Given the description of an element on the screen output the (x, y) to click on. 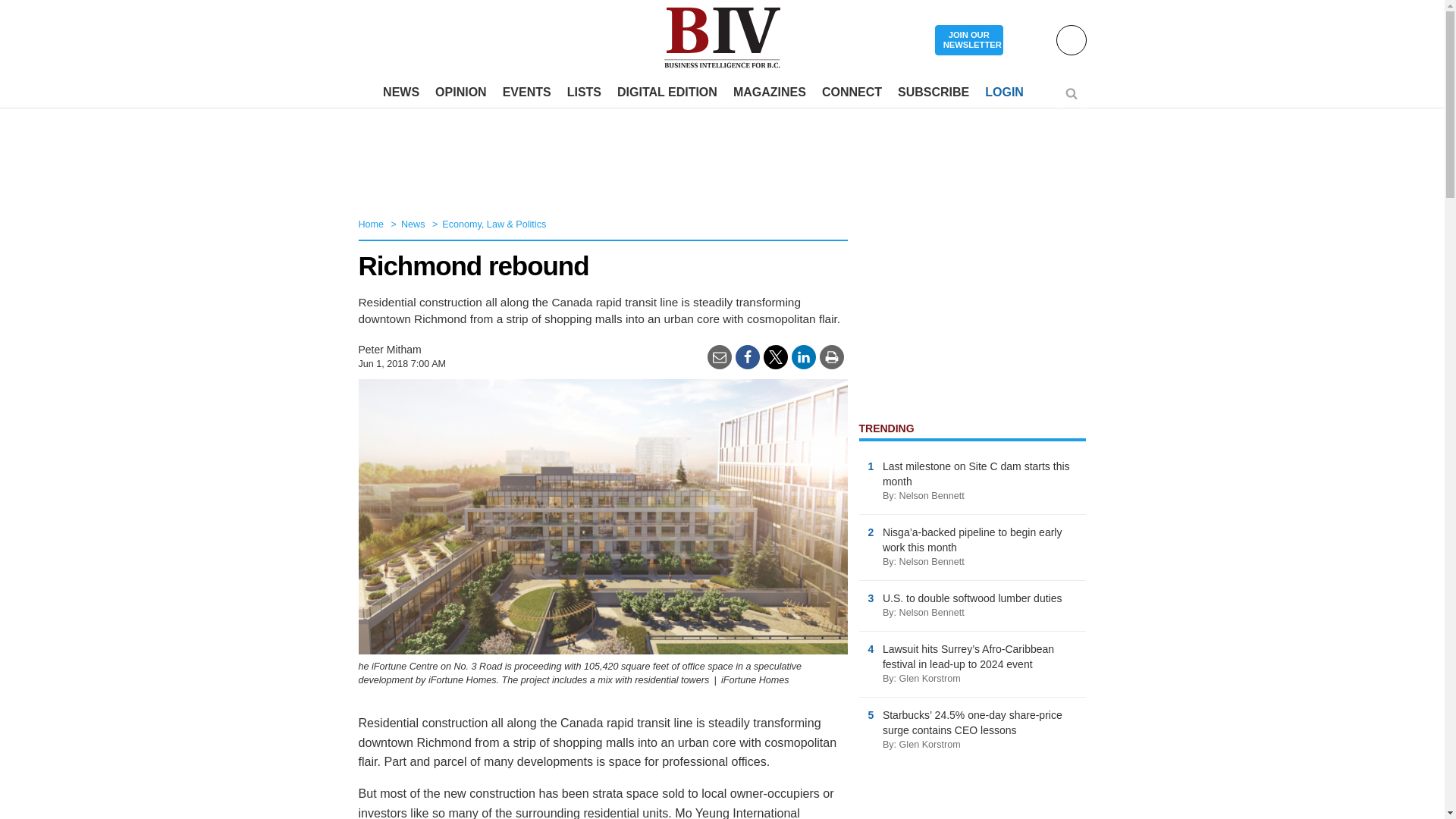
OPINION (461, 92)
SUBSCRIBE (933, 92)
LOGIN (1003, 92)
LISTS (583, 92)
NEWS (401, 92)
JOIN OUR NEWSLETTER (968, 40)
MAGAZINES (769, 92)
DIGITAL EDITION (667, 92)
EVENTS (526, 92)
